Given the description of an element on the screen output the (x, y) to click on. 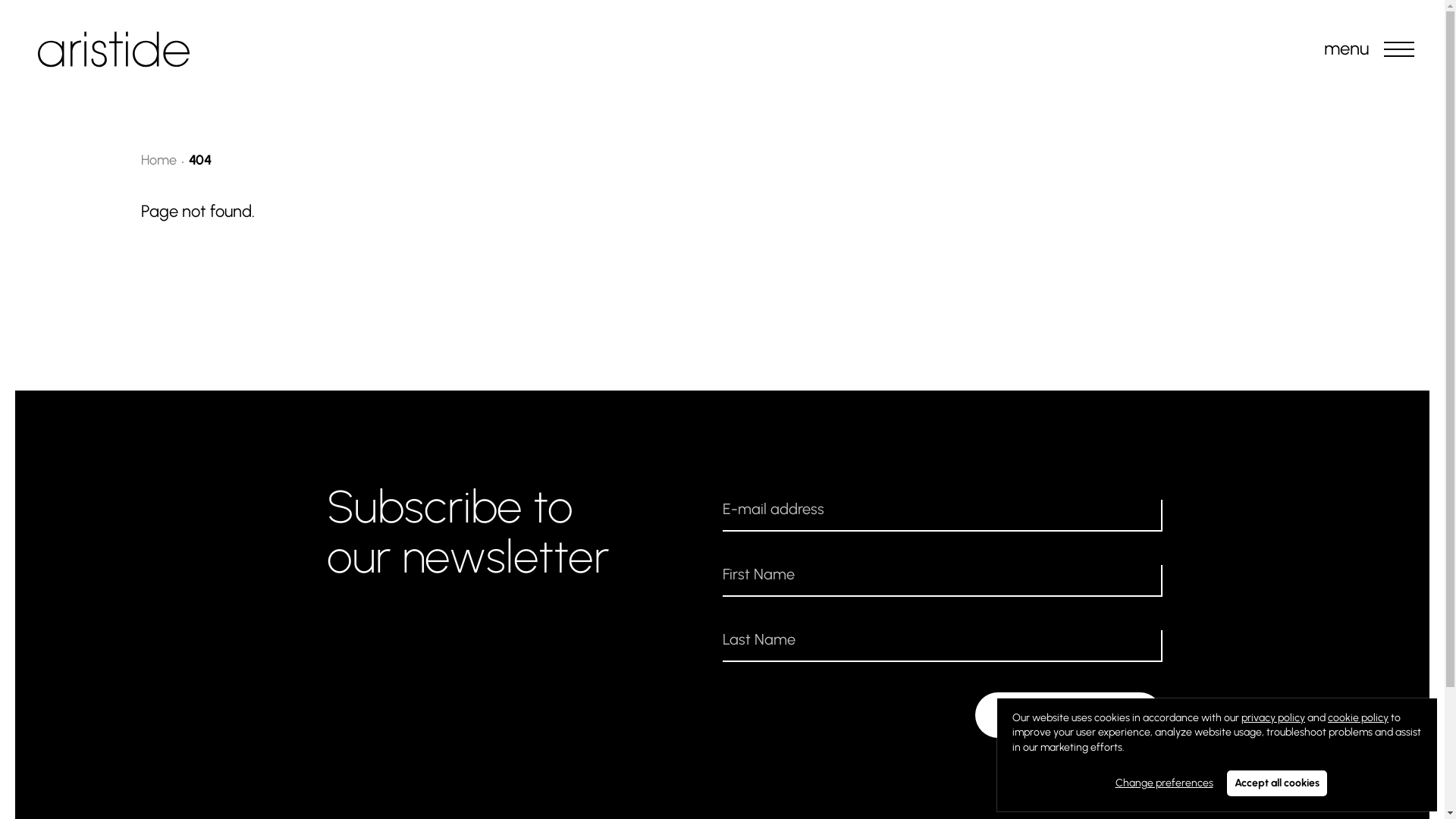
cookie policy Element type: text (1357, 717)
menu Element type: text (1398, 49)
privacy policy Element type: text (1273, 717)
Subscribe Element type: text (1068, 714)
Home Element type: text (158, 159)
Accept all cookies Element type: text (1276, 783)
